Given the description of an element on the screen output the (x, y) to click on. 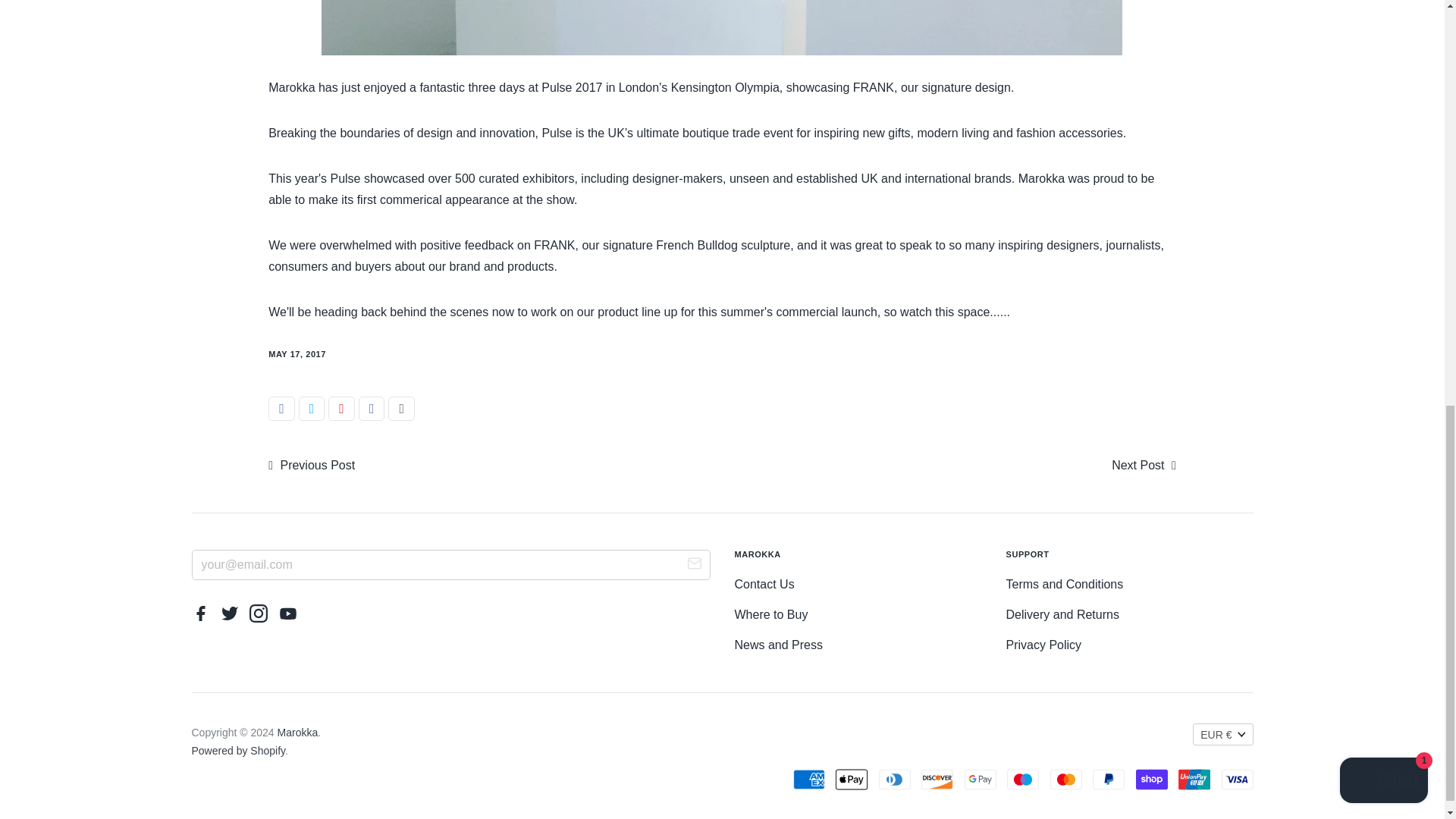
Maestro (1023, 779)
Discover (937, 779)
Mastercard (1065, 779)
Apple Pay (851, 779)
Shop Pay (1151, 779)
Diners Club (895, 779)
PayPal (1108, 779)
Visa (1236, 779)
Google Pay (979, 779)
American Express (809, 779)
Union Pay (1193, 779)
